Given the description of an element on the screen output the (x, y) to click on. 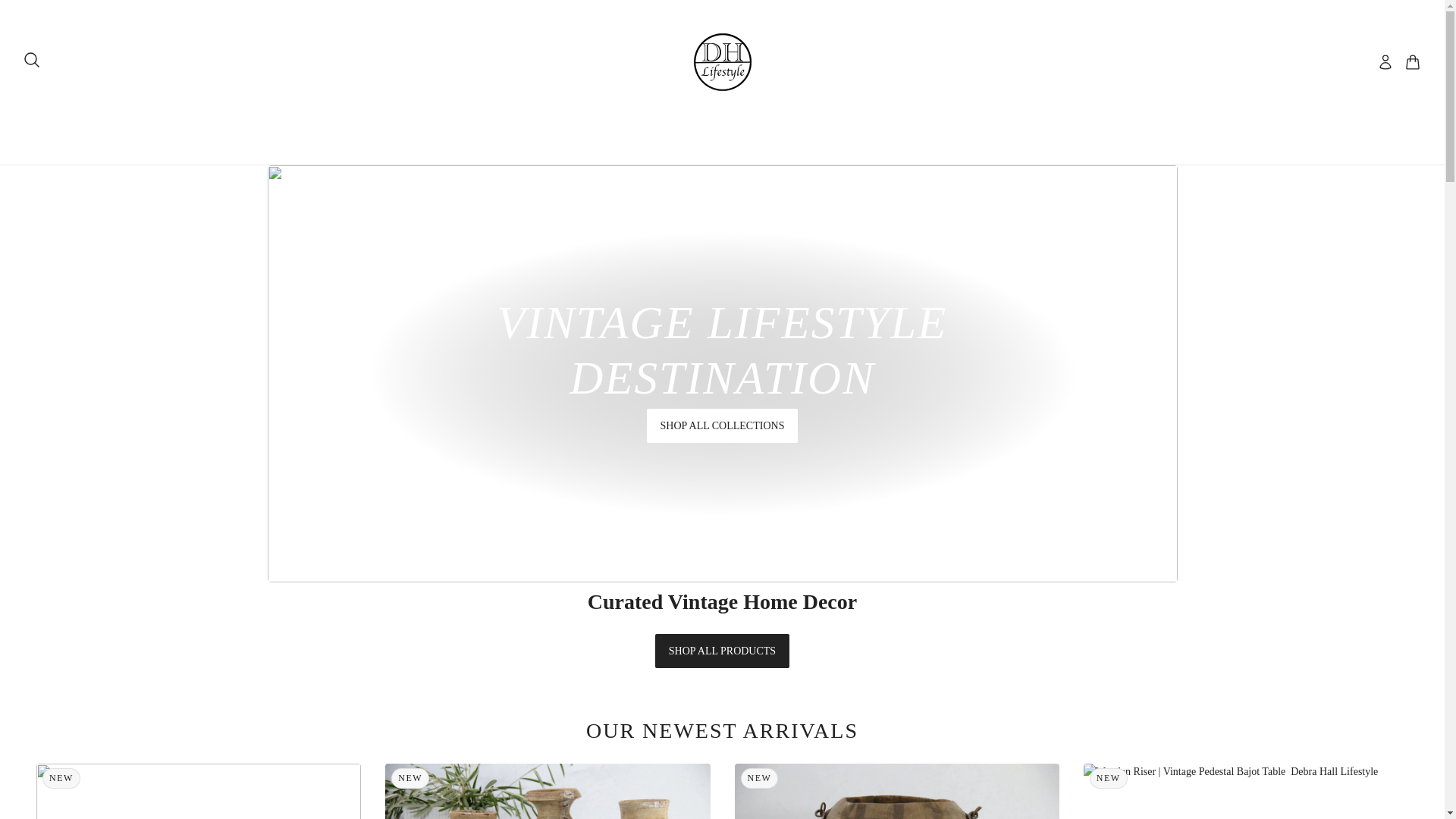
Debra Hall Lifestyle (722, 61)
